Given the description of an element on the screen output the (x, y) to click on. 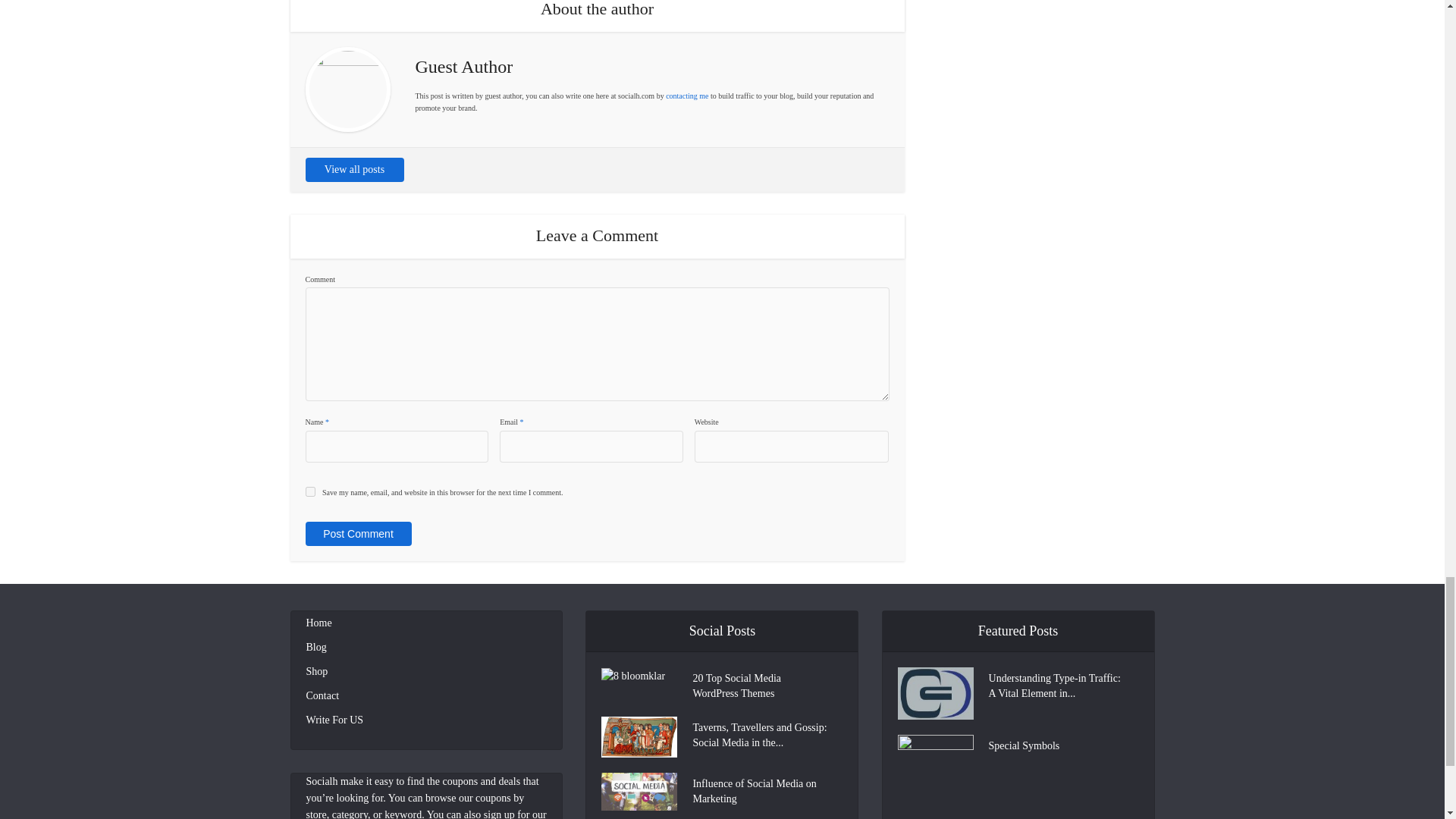
yes (309, 491)
Post Comment (357, 533)
